Given the description of an element on the screen output the (x, y) to click on. 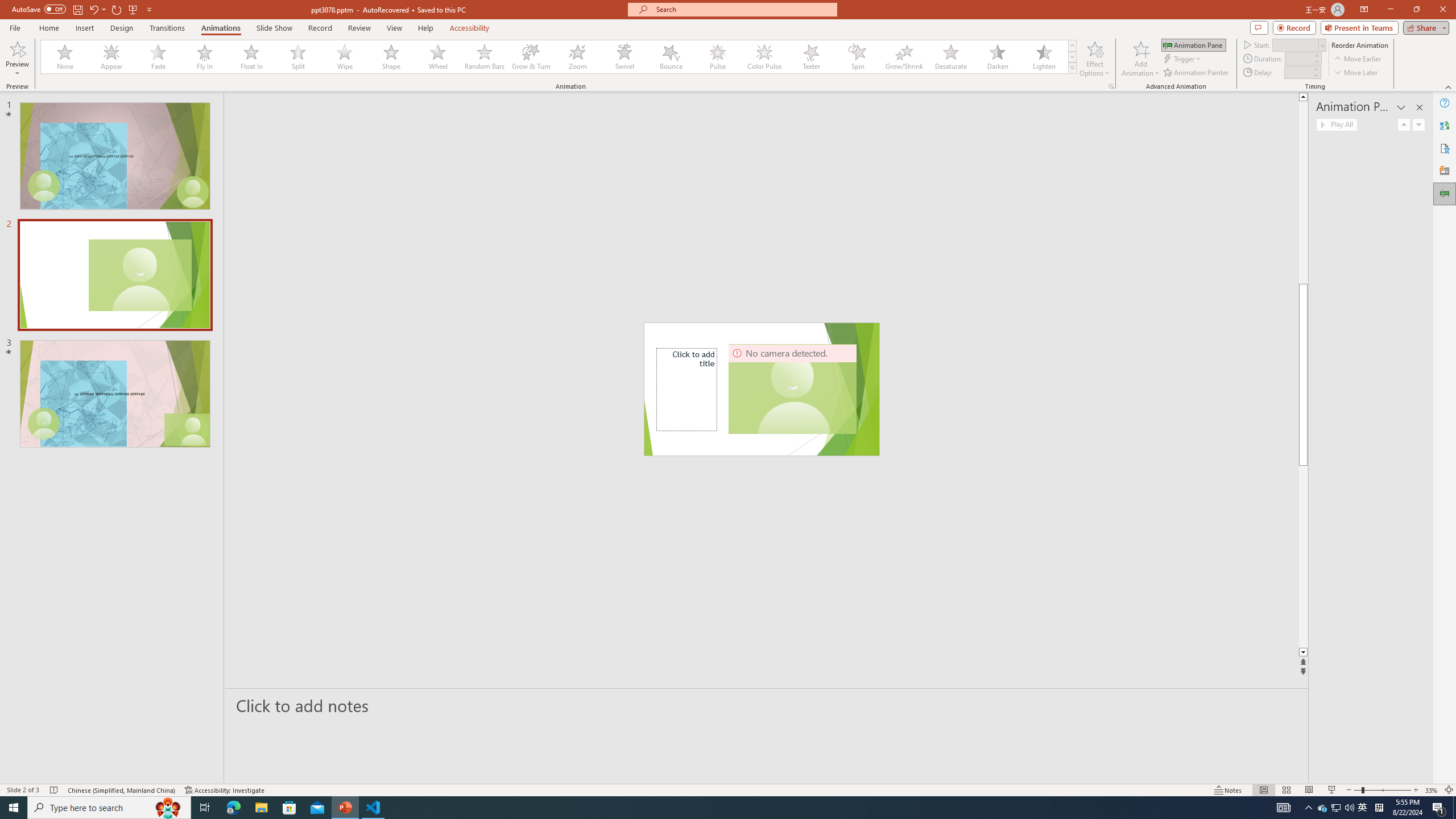
Move Up (1403, 124)
Grow & Turn (531, 56)
Float In (251, 56)
Move Down (1418, 124)
Desaturate (950, 56)
Animation Styles (1071, 67)
Wheel (437, 56)
